Given the description of an element on the screen output the (x, y) to click on. 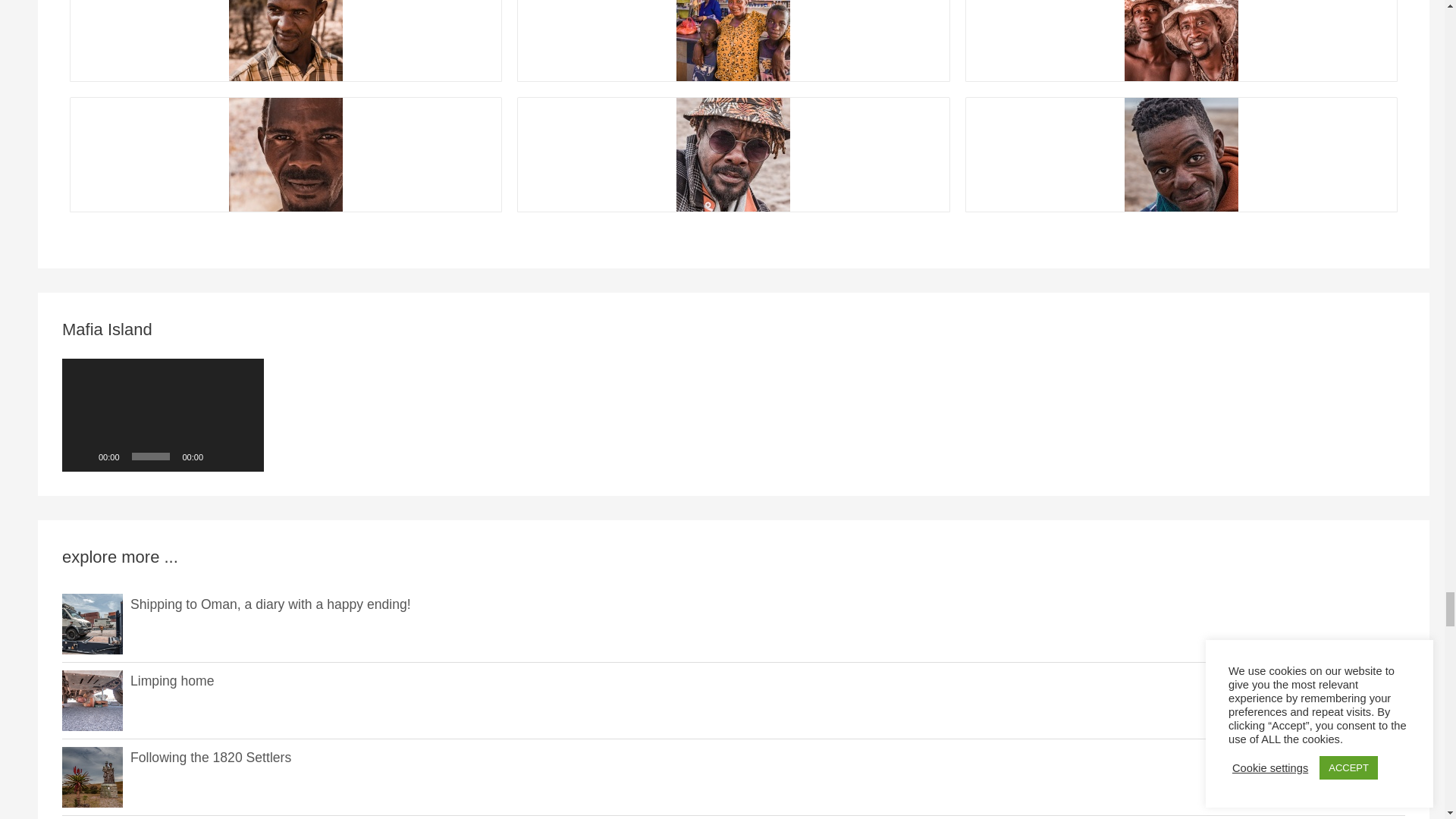
Mute (219, 456)
Fullscreen (243, 456)
Play (81, 456)
